Given the description of an element on the screen output the (x, y) to click on. 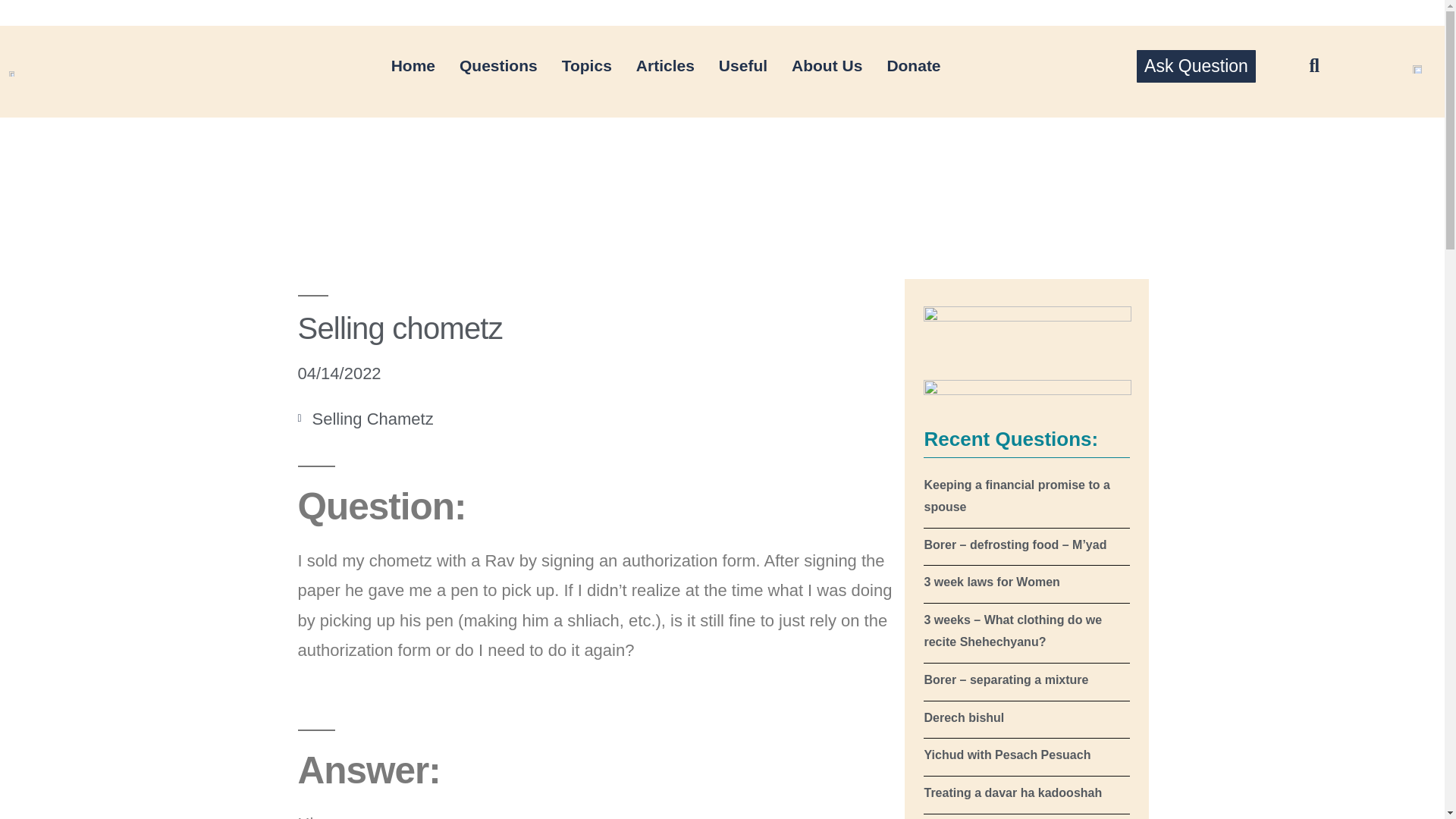
Ask Question (1196, 65)
Questions (498, 65)
Donate (913, 65)
Topics (587, 65)
Selling Chametz (373, 418)
Articles (665, 65)
Home (412, 65)
About Us (826, 65)
Useful (742, 65)
